Given the description of an element on the screen output the (x, y) to click on. 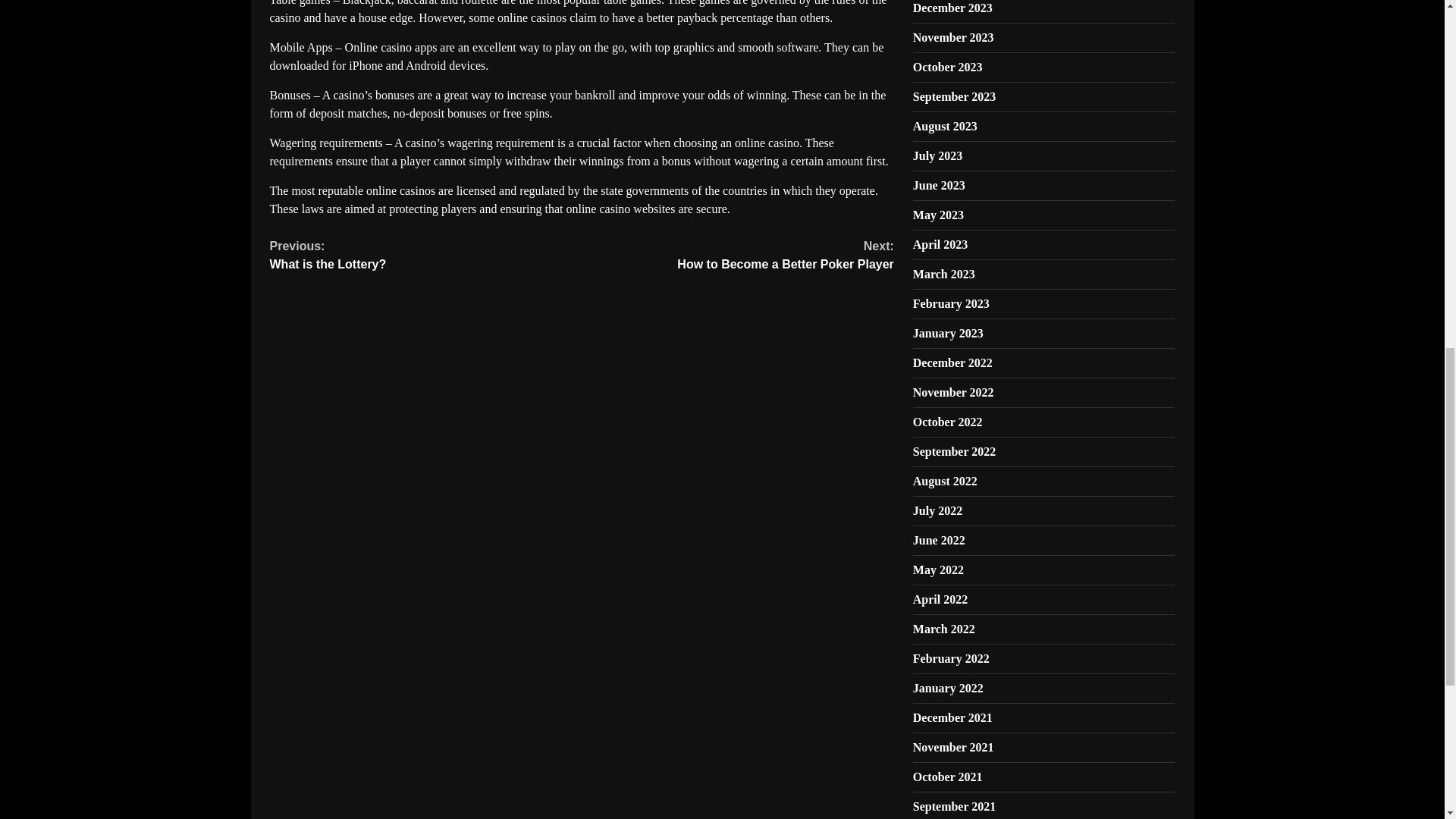
July 2023 (937, 155)
March 2023 (943, 273)
January 2023 (948, 332)
October 2023 (947, 66)
September 2023 (736, 255)
November 2023 (953, 96)
August 2023 (953, 37)
June 2023 (425, 255)
April 2023 (944, 125)
May 2023 (938, 185)
February 2023 (940, 244)
December 2022 (937, 214)
December 2023 (951, 303)
